Given the description of an element on the screen output the (x, y) to click on. 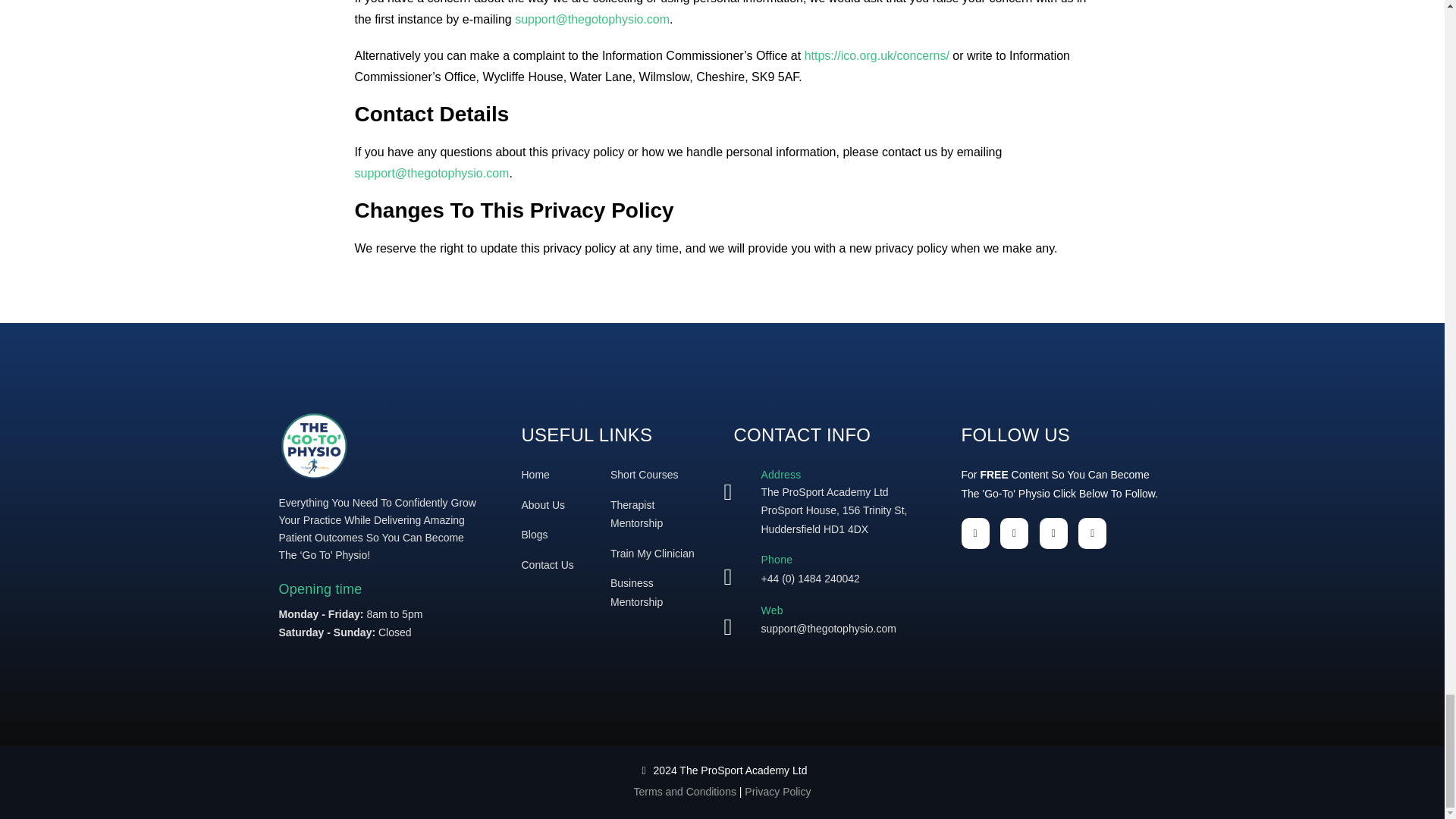
About Us (543, 504)
Therapist Mentorship (636, 513)
Home (535, 474)
Short Courses (644, 474)
Blogs (534, 534)
Contact Us (547, 564)
Train My Clinician (652, 553)
Business Mentorship (636, 592)
